Given the description of an element on the screen output the (x, y) to click on. 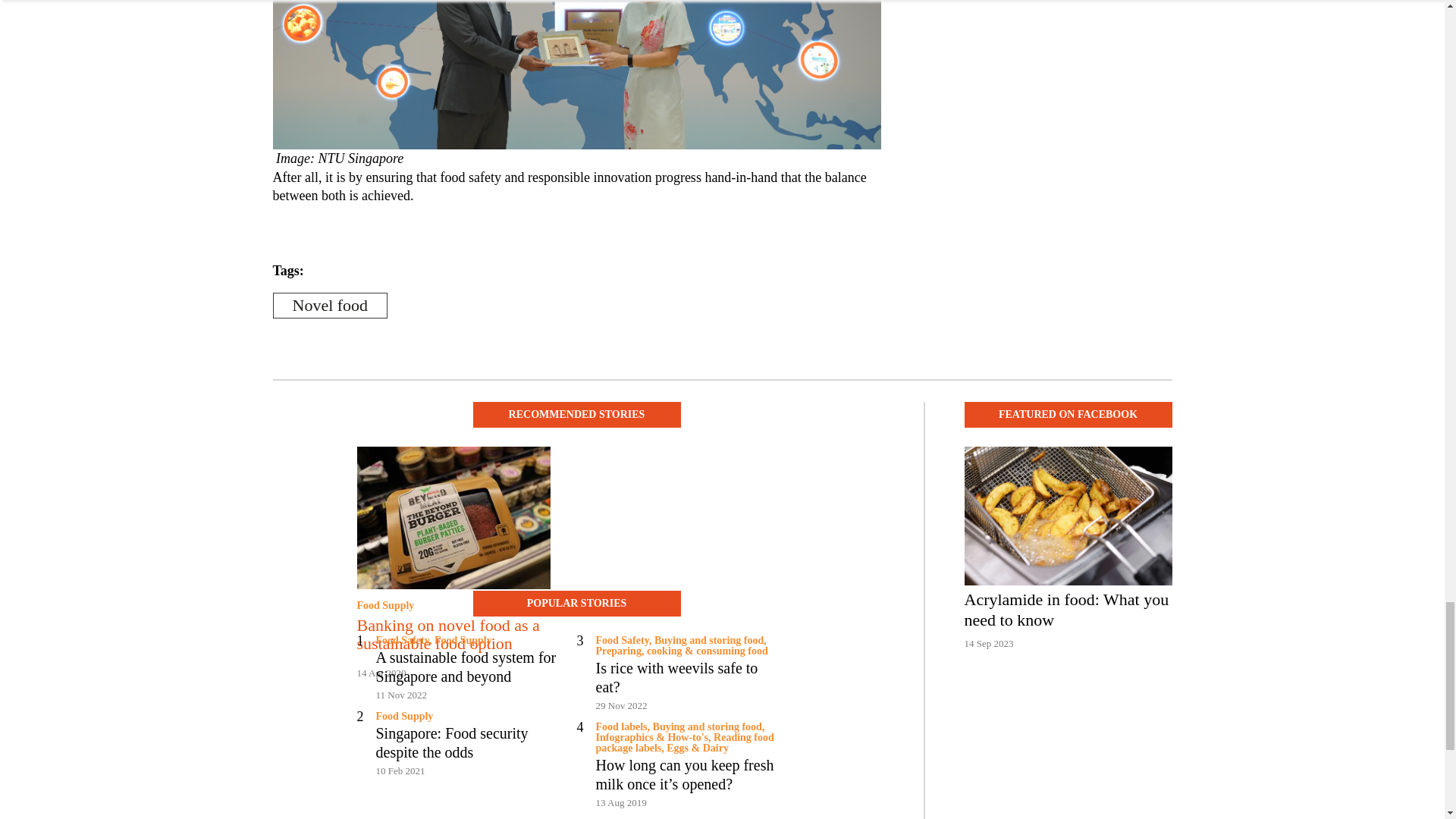
1A900411 (576, 74)
Novel food (330, 305)
Banking on novel food as a sustainable food option (453, 634)
